Given the description of an element on the screen output the (x, y) to click on. 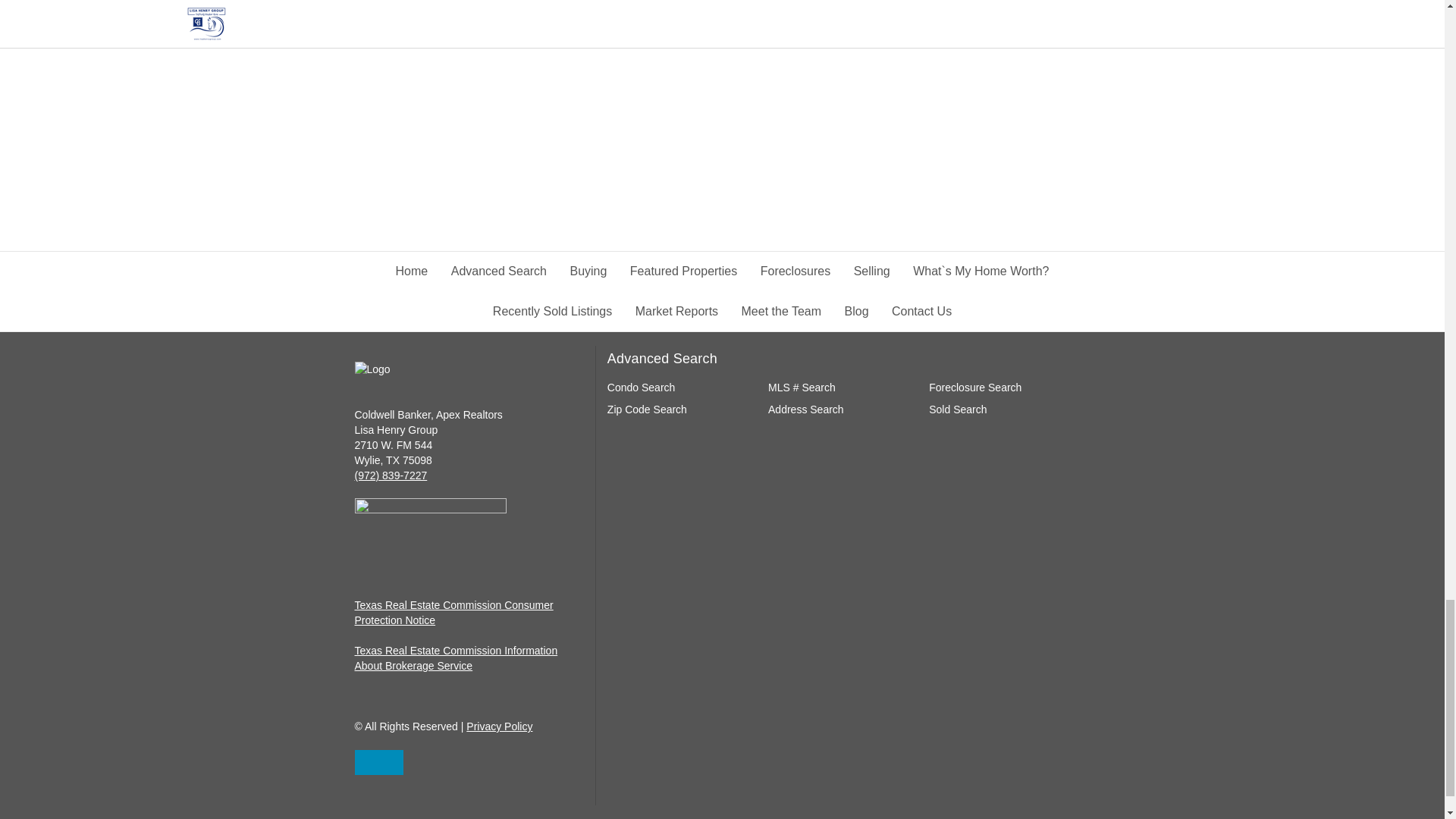
MLS Logo (430, 524)
Logo (468, 368)
Go to top (379, 762)
